Given the description of an element on the screen output the (x, y) to click on. 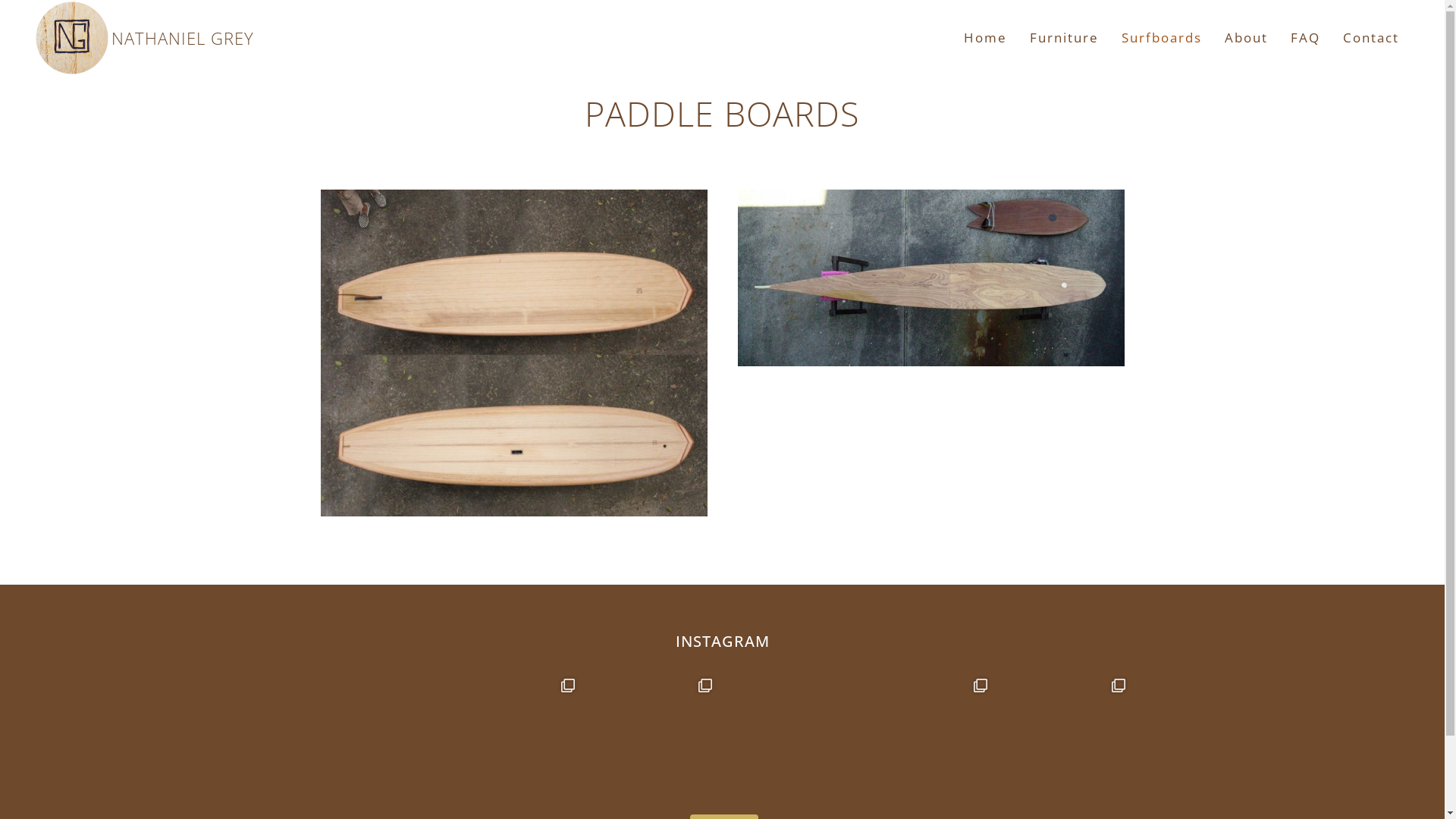
Furniture Element type: text (1064, 37)
Home Element type: text (985, 37)
Contact Element type: text (1370, 37)
FAQ Element type: text (1305, 37)
NATHANIEL GREY Element type: text (105, 75)
About Element type: text (1246, 37)
Surfboards Element type: text (1161, 37)
